Given the description of an element on the screen output the (x, y) to click on. 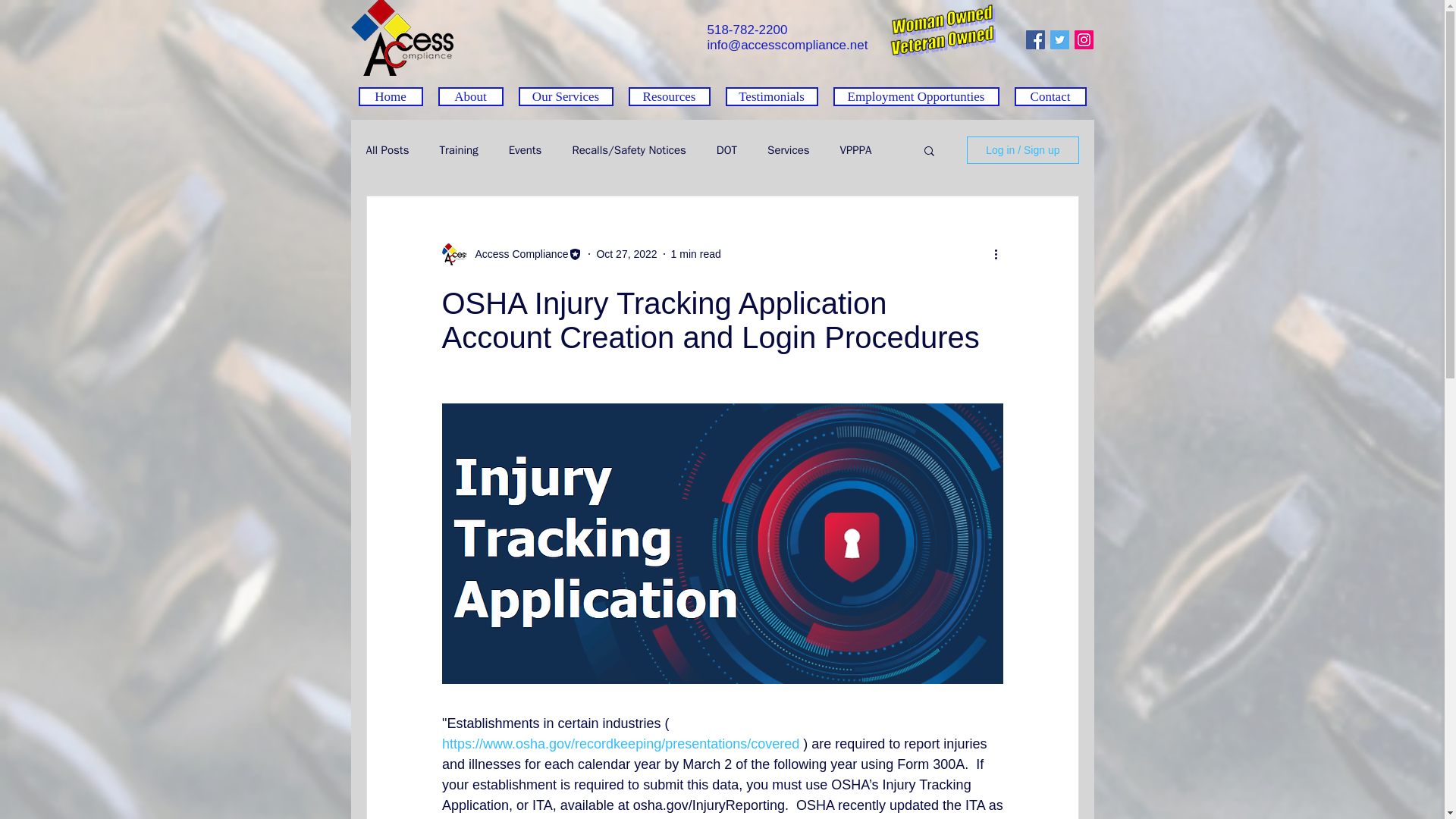
DOT (726, 149)
Oct 27, 2022 (625, 253)
Home (390, 96)
Employment Opportunties (915, 96)
Training (458, 149)
Services (788, 149)
Access Compliance (516, 253)
Our Services (565, 96)
About (470, 96)
Events (524, 149)
VPPPA (856, 149)
1 min read (695, 253)
Contact (1050, 96)
Testimonials (770, 96)
All Posts (387, 149)
